Given the description of an element on the screen output the (x, y) to click on. 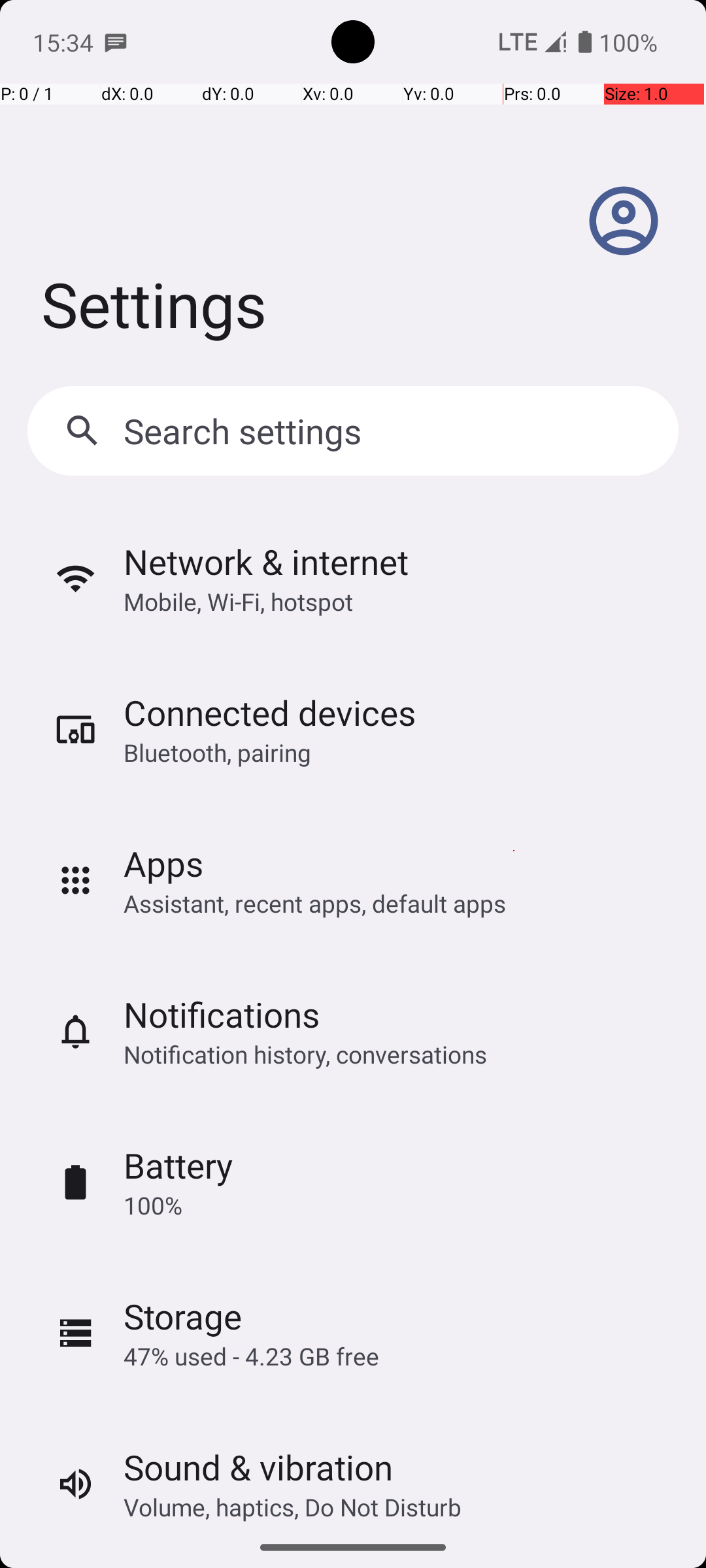
47% used - 4.23 GB free Element type: android.widget.TextView (251, 1355)
